Given the description of an element on the screen output the (x, y) to click on. 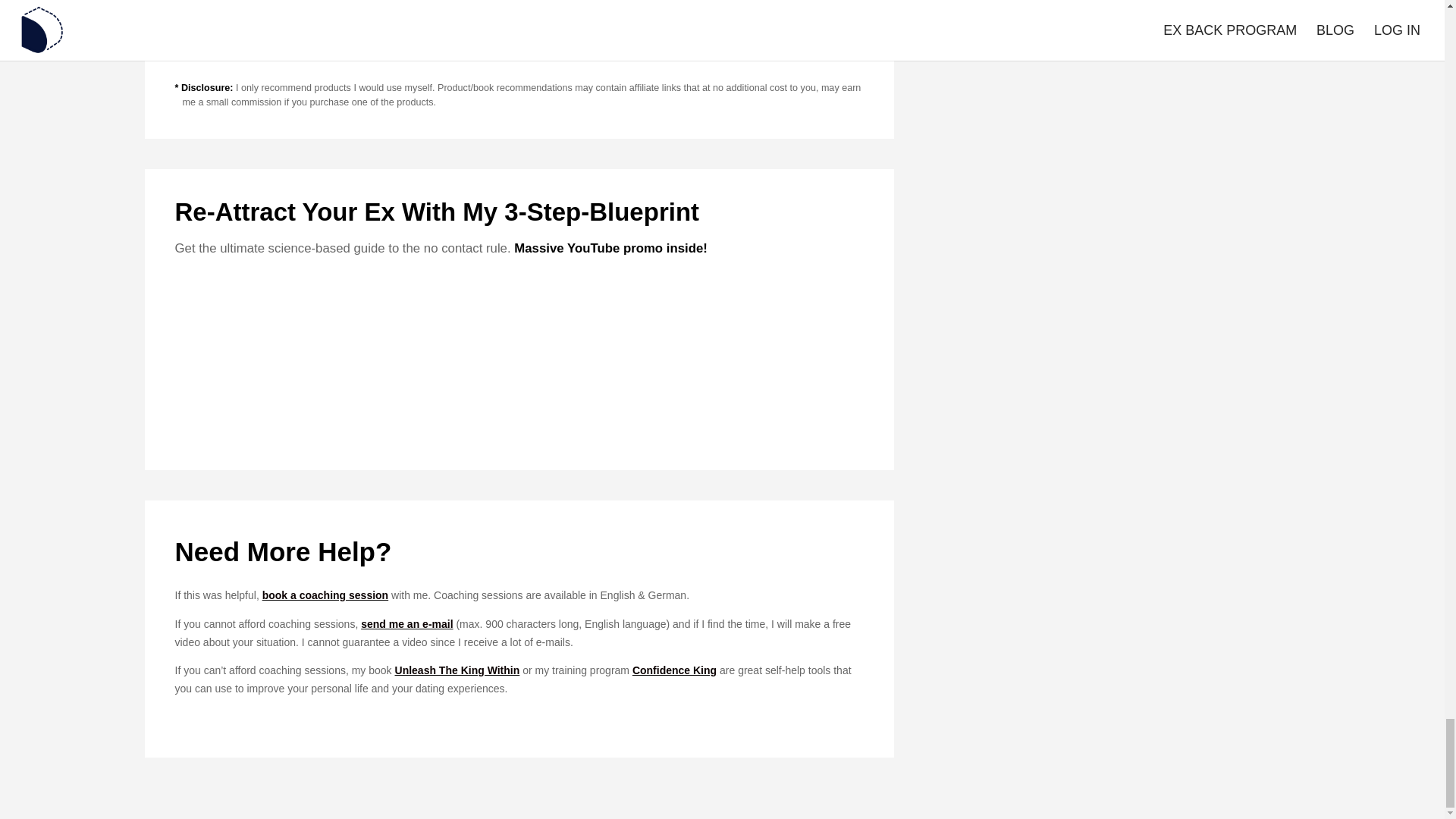
PhoenEx 3-Step-Blueprint - Sign Up Now (518, 358)
send me an e-mail (406, 623)
Home (188, 40)
Blog (224, 40)
Unleash The King Within (456, 670)
Andy Graziosi (236, 5)
Massive YouTube promo inside! (610, 247)
book a coaching session (325, 594)
Re-Attract Your Ex With My 3-Step-Blueprint (436, 212)
Confidence King (673, 670)
Posts by Andy Graziosi (236, 5)
